Given the description of an element on the screen output the (x, y) to click on. 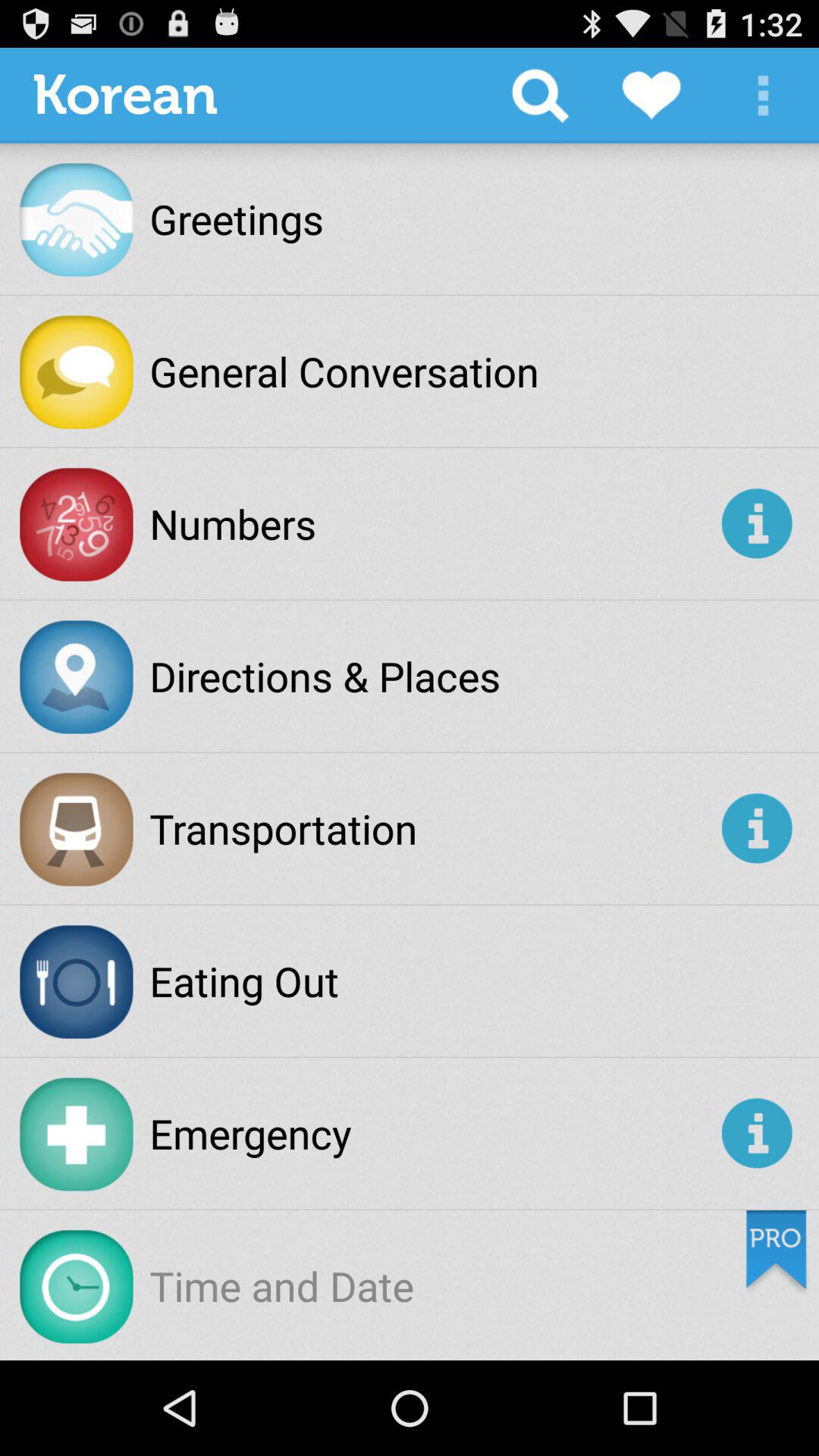
scroll to the transportation app (432, 827)
